Given the description of an element on the screen output the (x, y) to click on. 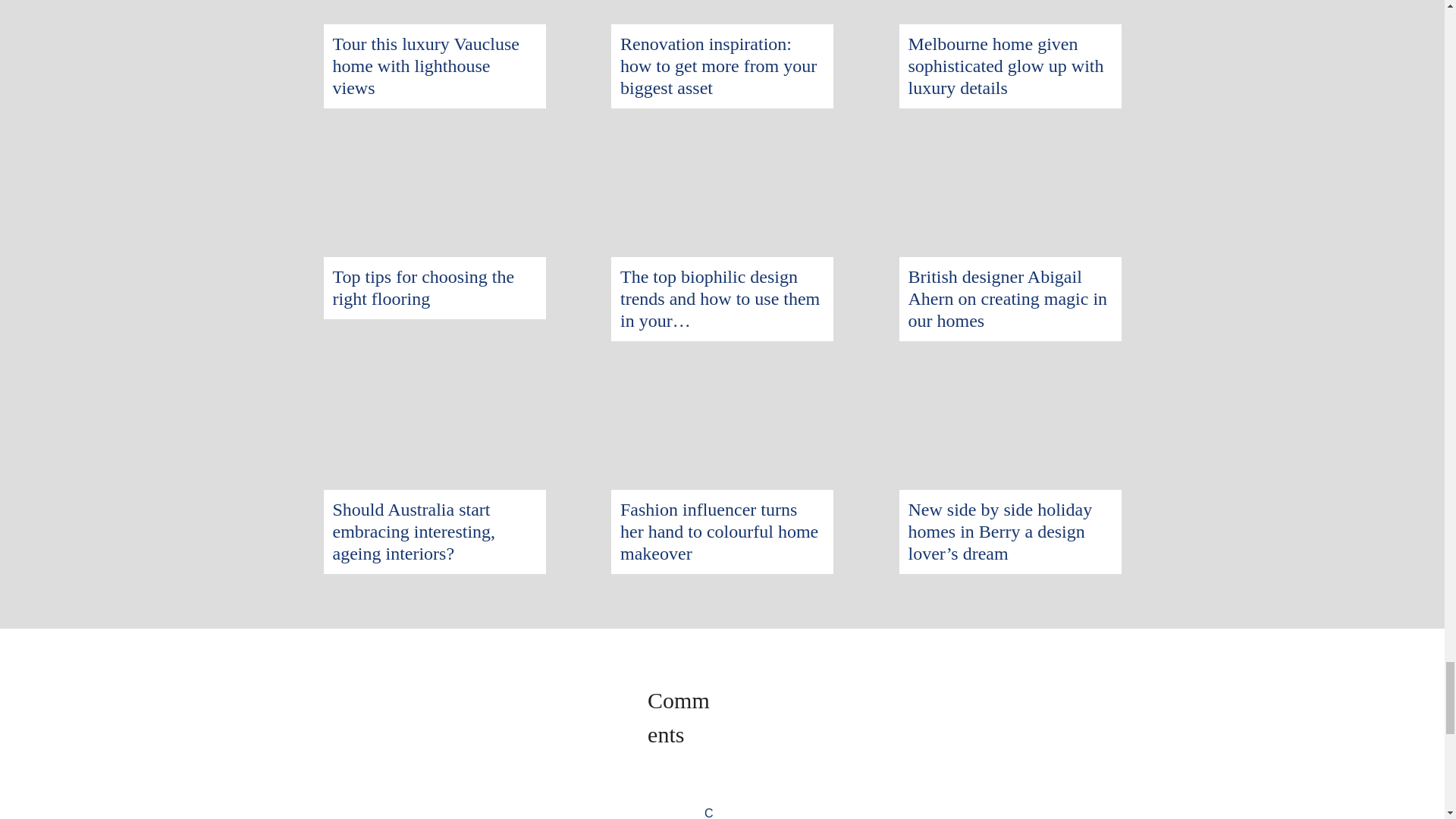
Tour this luxury Vaucluse home with lighthouse views (425, 65)
